Given the description of an element on the screen output the (x, y) to click on. 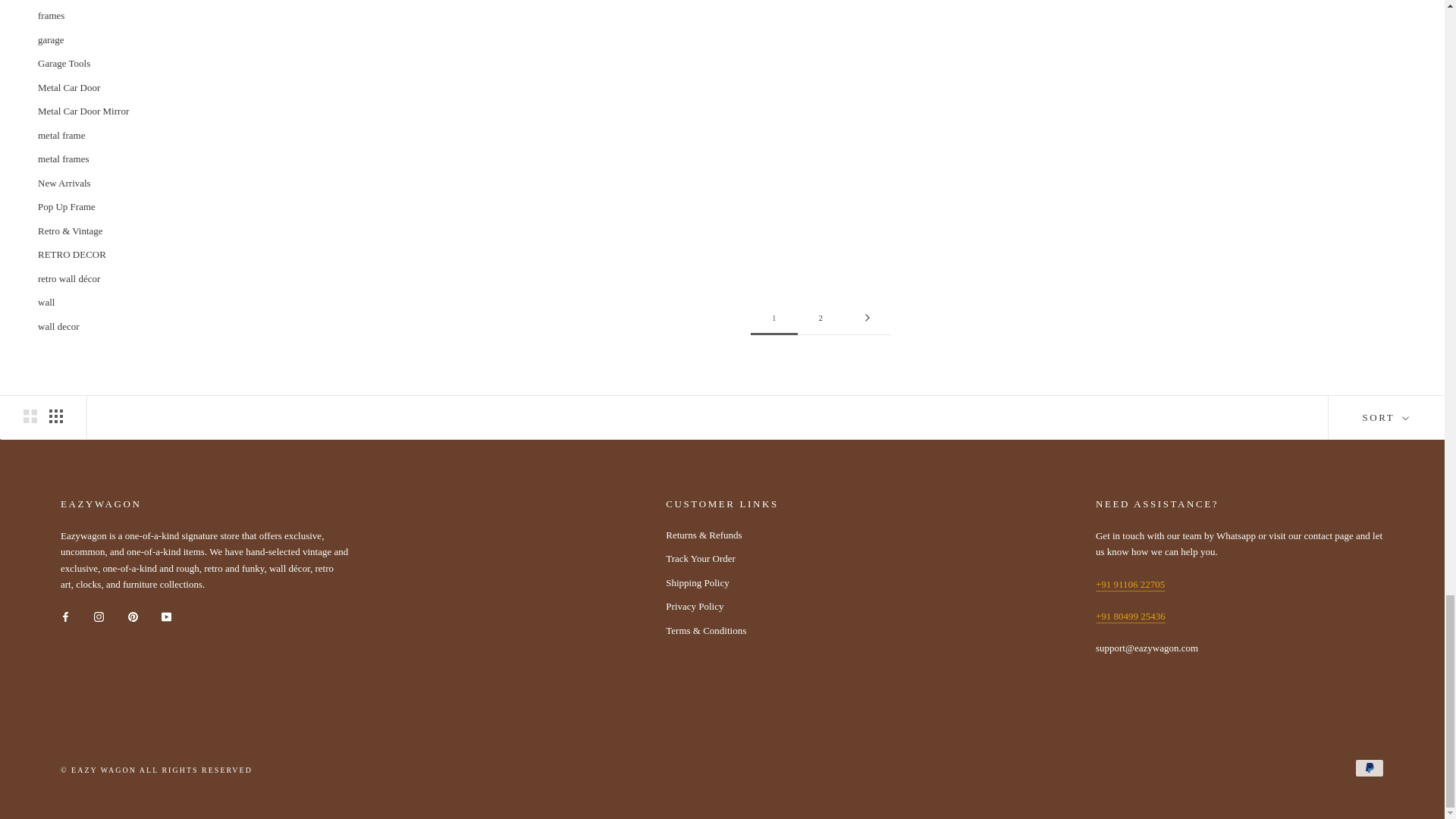
PayPal (1369, 768)
Navigate to page 2 (820, 318)
Next page (867, 318)
